Given the description of an element on the screen output the (x, y) to click on. 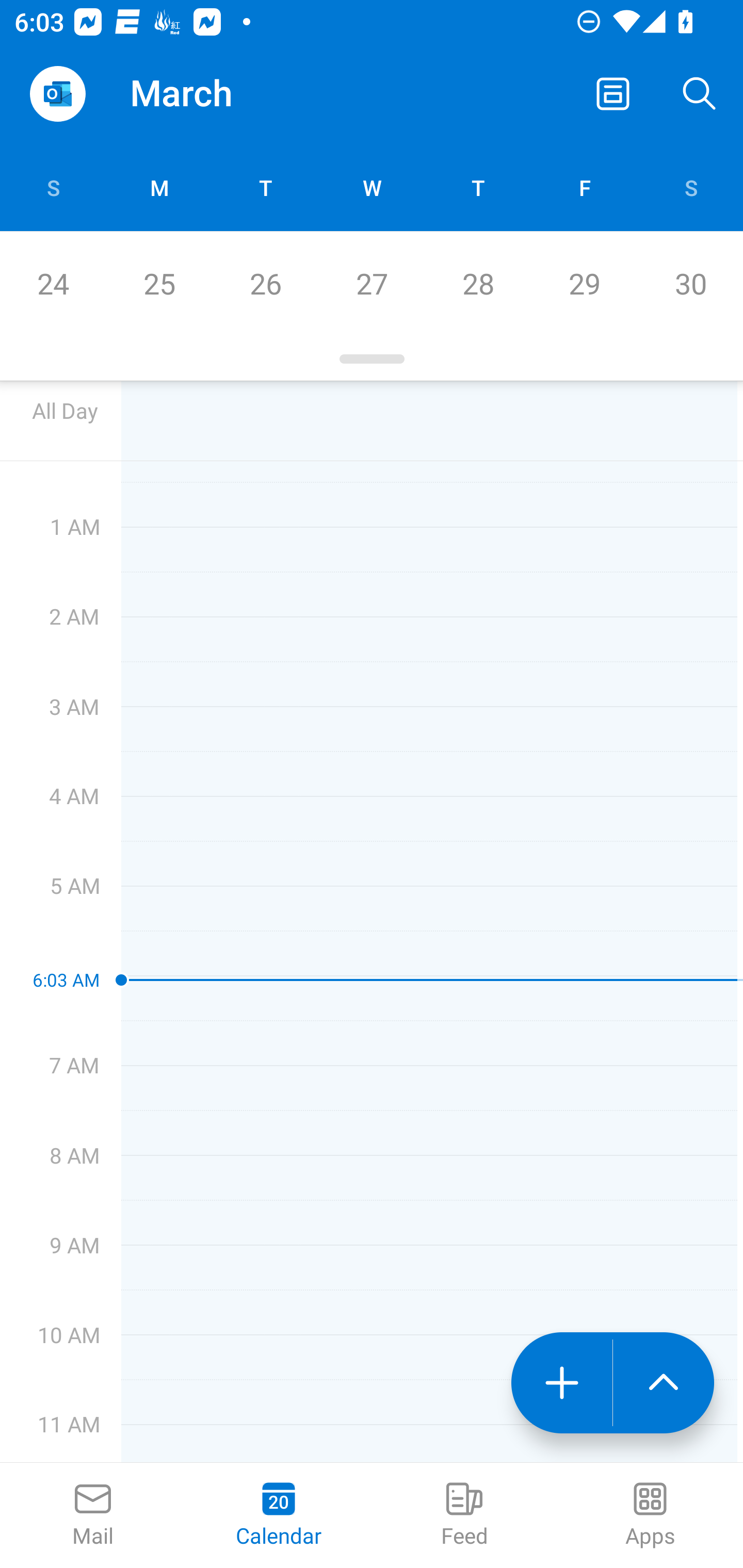
March March 2024, day picker (209, 93)
Switch away from Day view (612, 93)
Search, ,  (699, 93)
Open Navigation Drawer (57, 94)
24 Sunday, March 24 (53, 284)
25 Monday, March 25 (159, 284)
26 Tuesday, March 26 (265, 284)
27 Wednesday, March 27 (371, 284)
28 Thursday, March 28 (477, 284)
29 Friday, March 29 (584, 284)
30 Saturday, March 30 (690, 284)
Day picker (371, 359)
New event (561, 1382)
launch the extended action menu (663, 1382)
Mail (92, 1515)
Feed (464, 1515)
Apps (650, 1515)
